Given the description of an element on the screen output the (x, y) to click on. 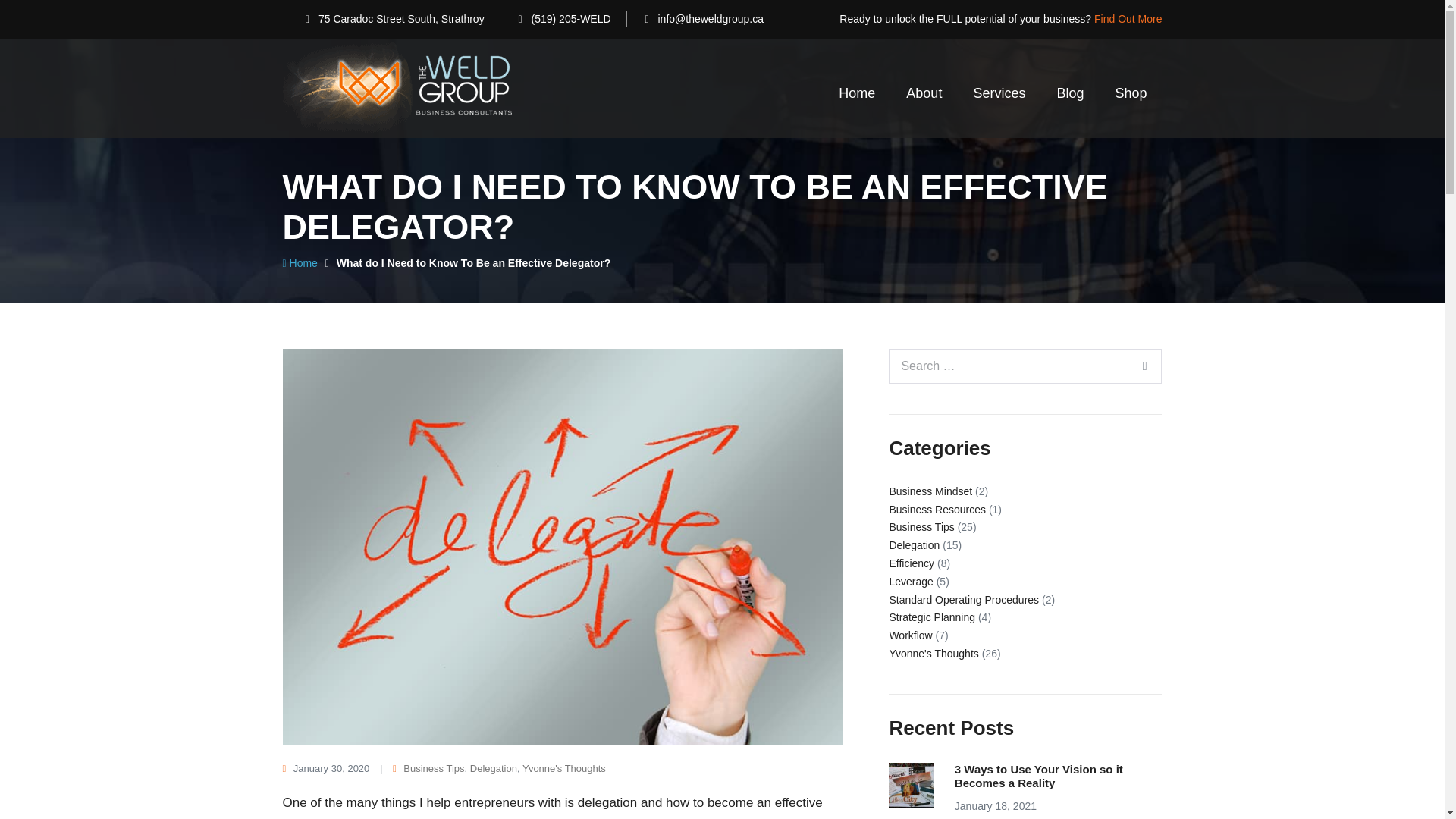
TheWeldGroupLogo (396, 88)
Press enter to search (1024, 366)
Home (299, 263)
Business Tips (433, 767)
Find Out More (1127, 19)
Delegation (493, 767)
3 Ways to Use Your Vision so it Becomes a Reality (1038, 775)
Yvonne's Thoughts (563, 767)
3 Ways to Use Your Vision so it Becomes a Reality (911, 784)
